Given the description of an element on the screen output the (x, y) to click on. 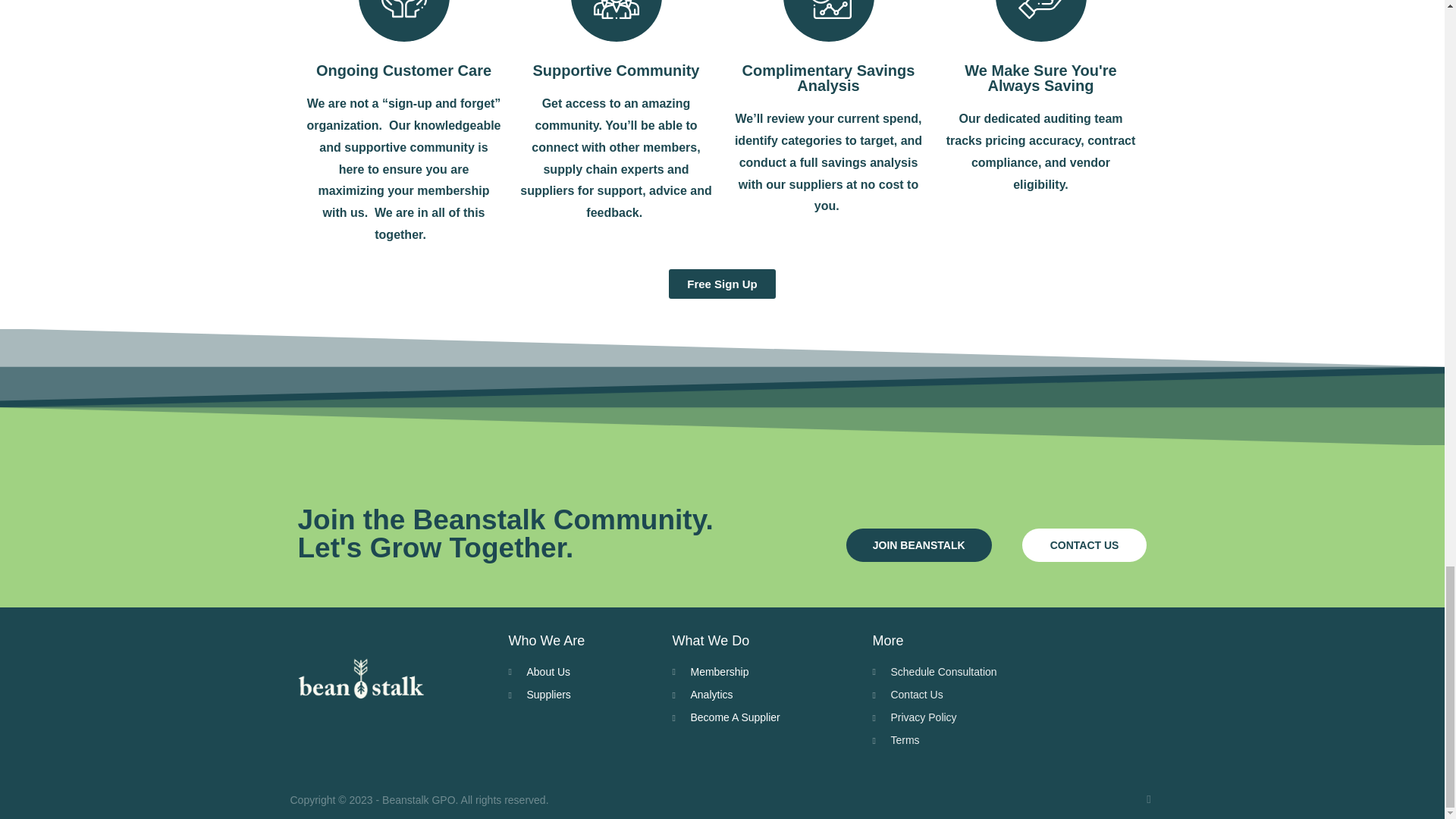
Become A Supplier (764, 717)
Privacy Policy (933, 717)
Contact Us (933, 694)
About Us (582, 671)
CONTACT US (1084, 544)
Analytics (764, 694)
Terms (933, 740)
Suppliers (582, 694)
Schedule Consultation (933, 671)
Free Sign Up (722, 283)
Membership (764, 671)
JOIN BEANSTALK (918, 544)
